Given the description of an element on the screen output the (x, y) to click on. 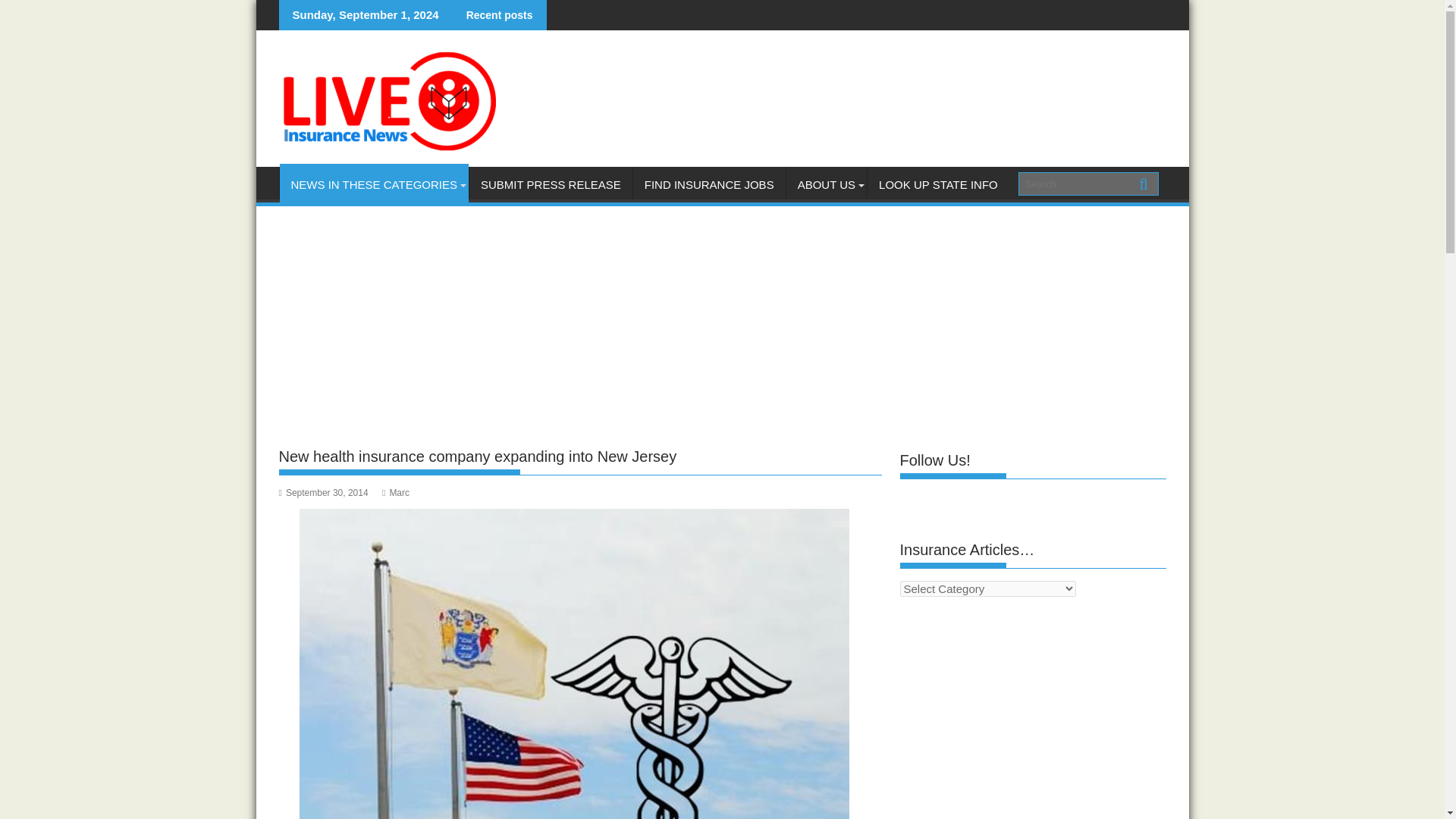
SUBMIT PRESS RELEASE (549, 185)
ABOUT US (826, 185)
September 30, 2014 (323, 492)
LOOK UP STATE INFO (938, 185)
FIND INSURANCE JOBS (709, 185)
NEWS IN THESE CATEGORIES (373, 185)
